Given the description of an element on the screen output the (x, y) to click on. 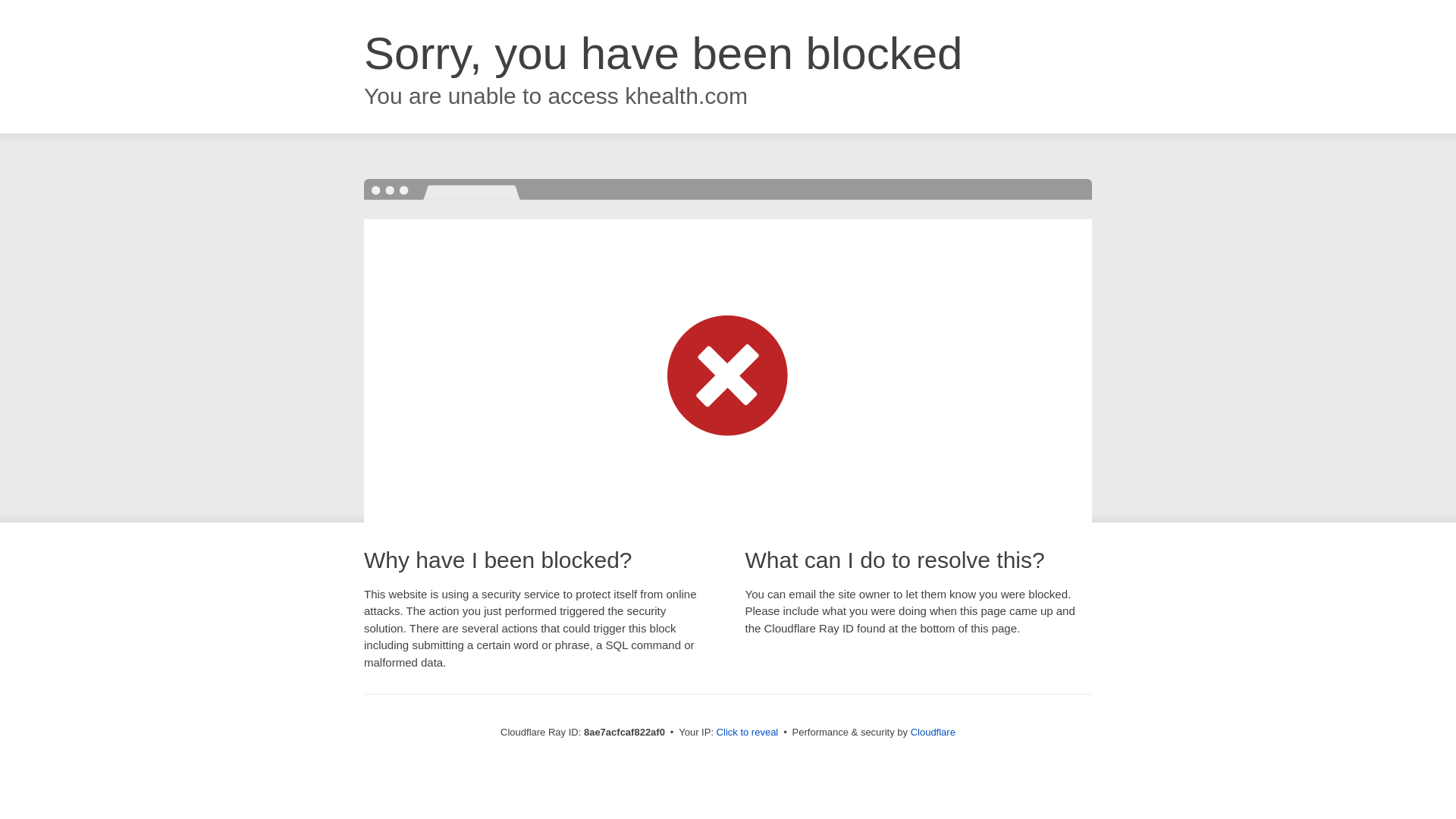
Click to reveal (747, 732)
Cloudflare (933, 731)
